Given the description of an element on the screen output the (x, y) to click on. 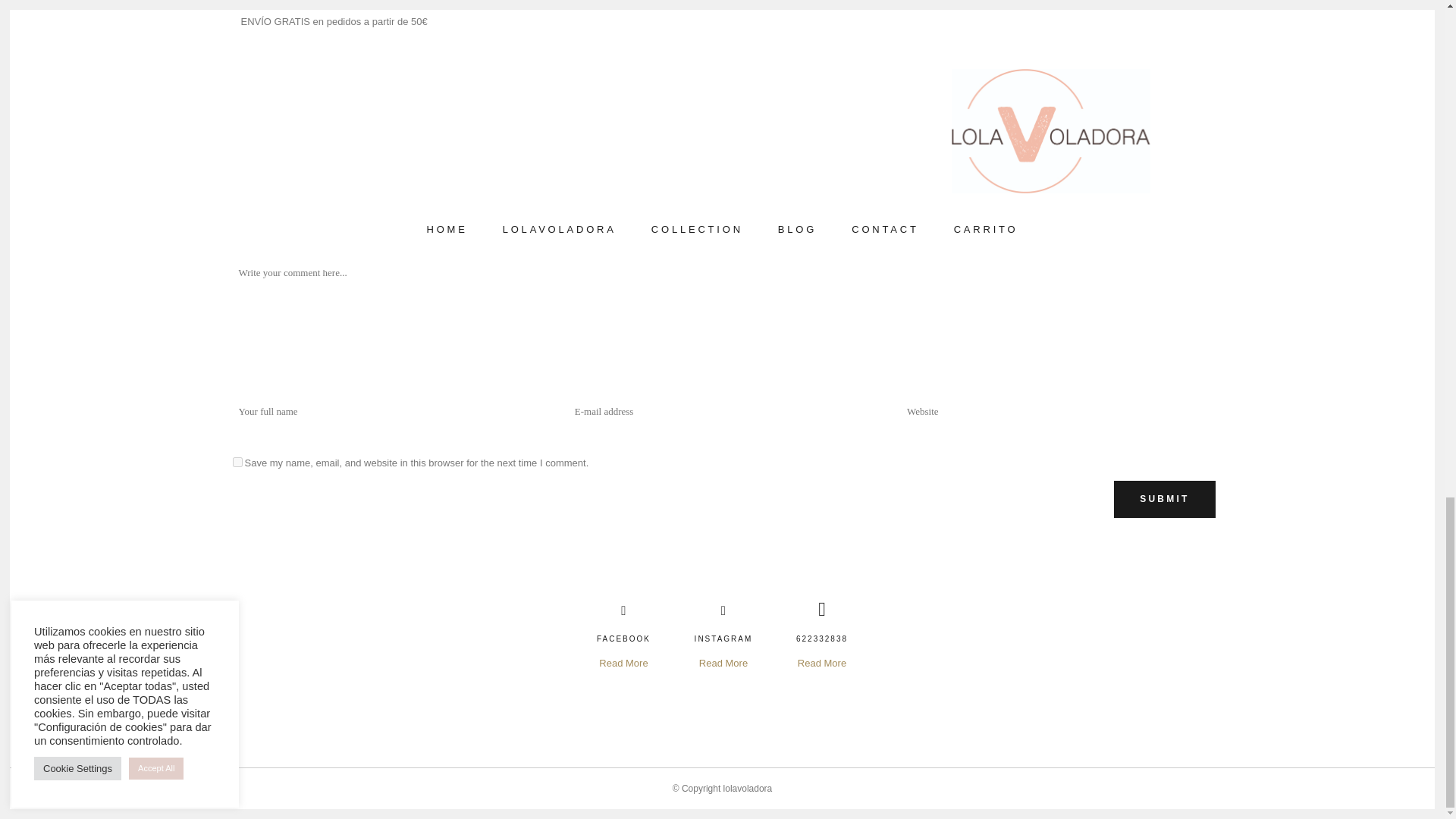
yes (236, 461)
Submit (1163, 498)
Read More (622, 663)
Read More (821, 663)
Submit (1163, 498)
lolavoladora (748, 787)
Read More (723, 663)
